Given the description of an element on the screen output the (x, y) to click on. 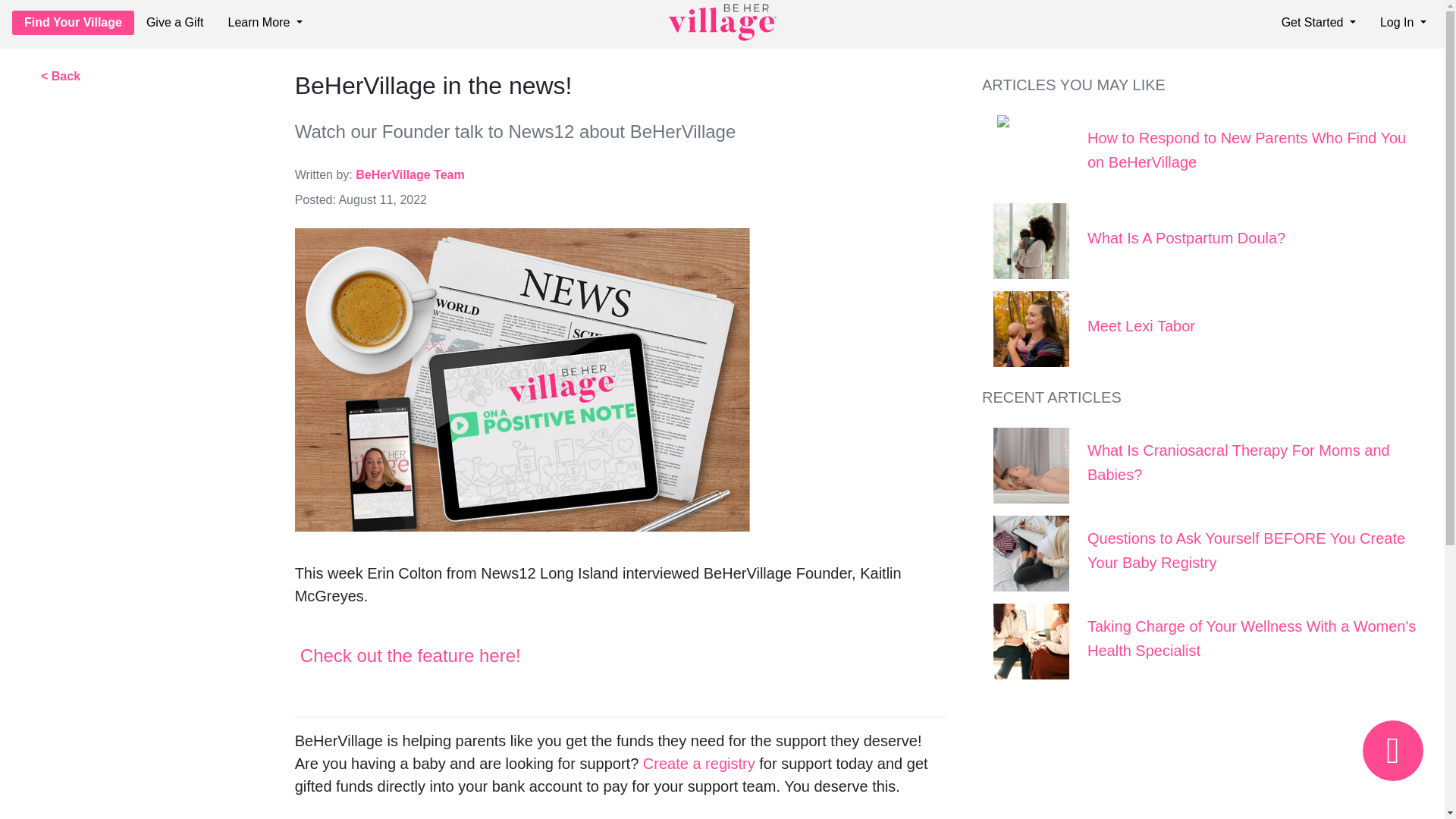
How to Respond to New Parents Who Find You on BeHerVillage (1246, 149)
Give a Gift (175, 21)
What Is A Postpartum Doula? (1186, 238)
Find Your Village (72, 22)
Get Started (1318, 21)
Check out the feature here!  (412, 655)
Create a registry (699, 763)
Learn More (264, 21)
What Is Craniosacral Therapy For Moms and Babies? (1238, 462)
BeHerVillage Team (409, 174)
Log In (1403, 21)
Meet Lexi Tabor (1141, 325)
